Given the description of an element on the screen output the (x, y) to click on. 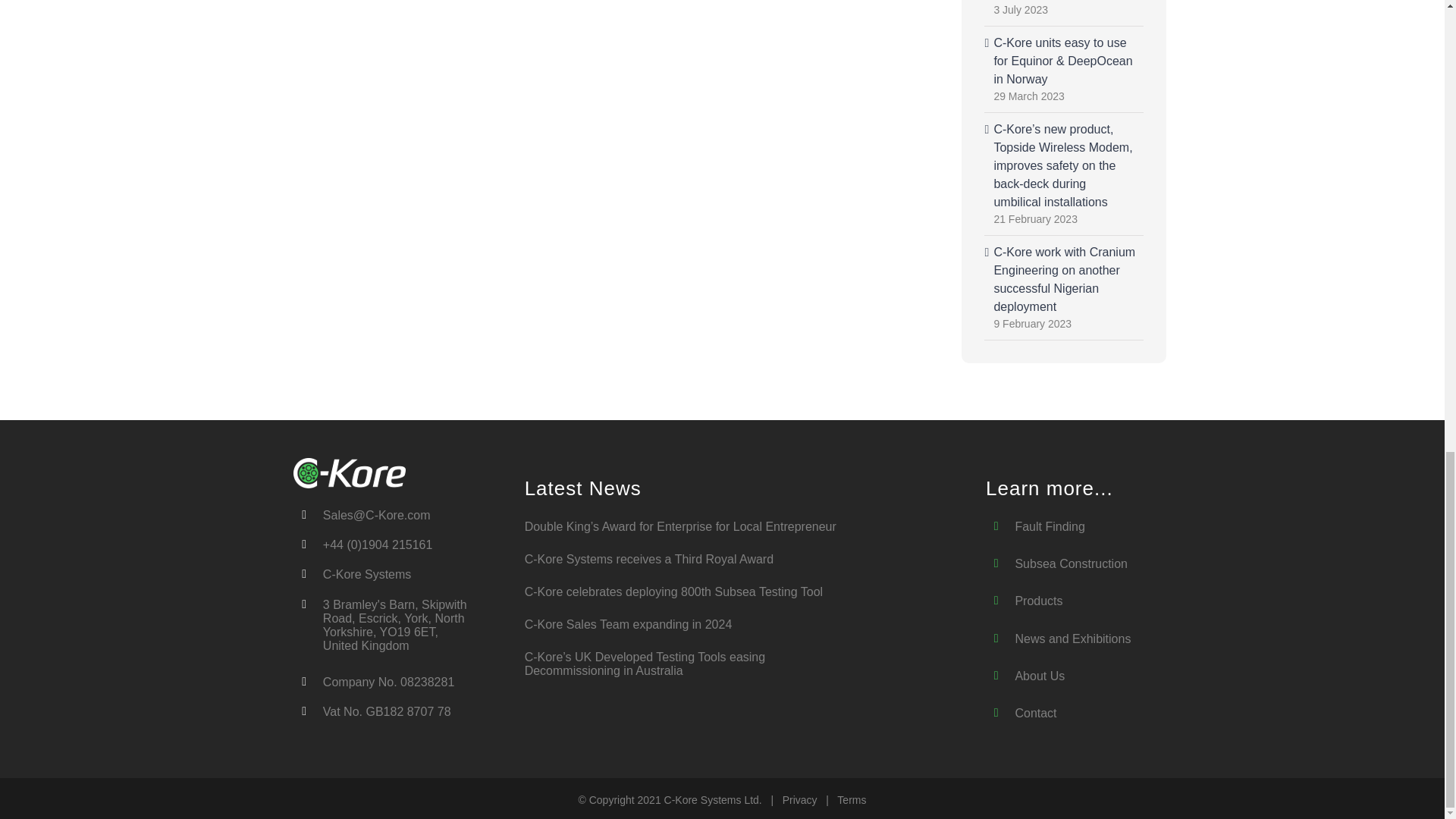
C-Kore Logo Scaled (350, 472)
